Given the description of an element on the screen output the (x, y) to click on. 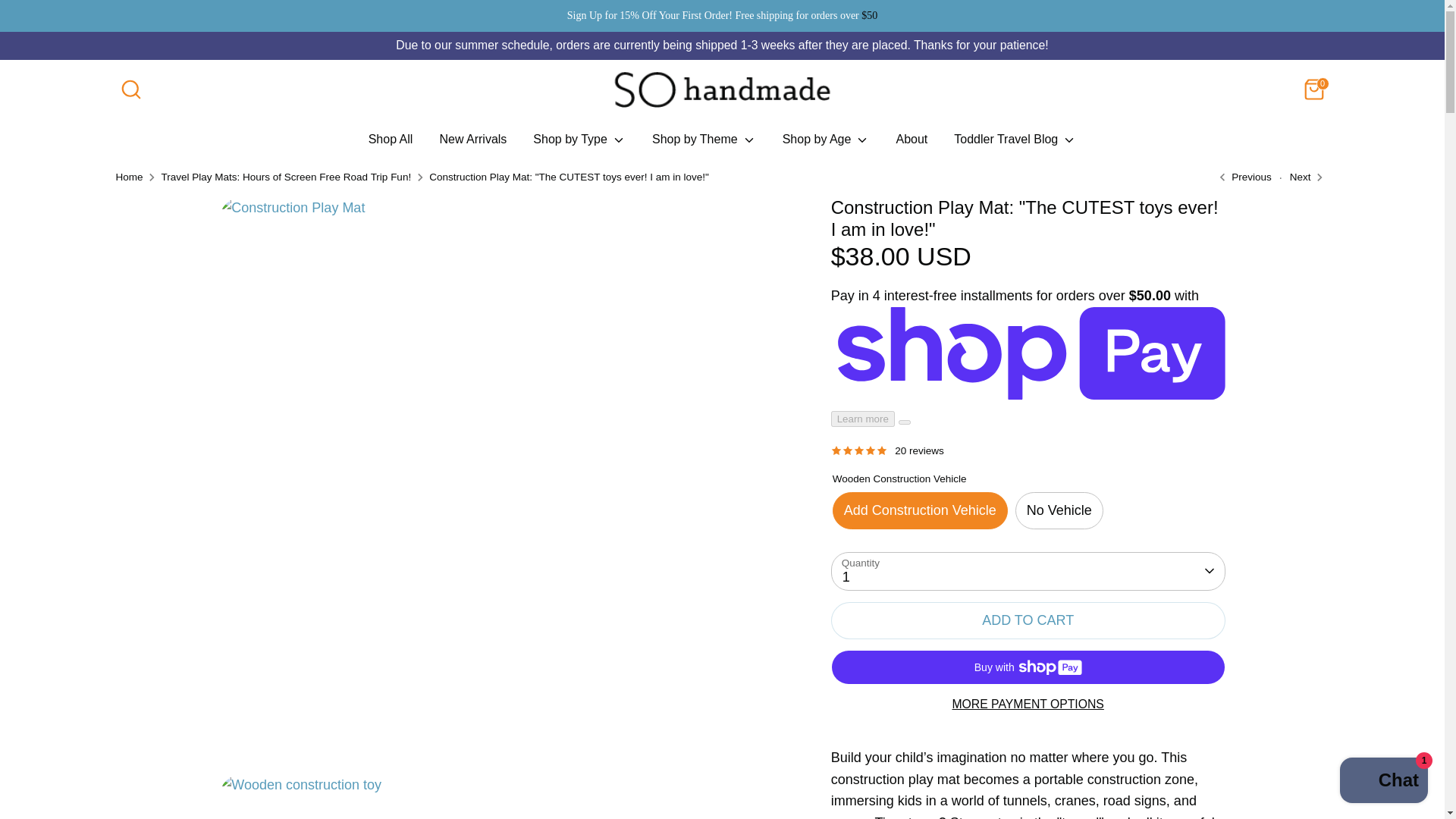
Shopify online store chat (1383, 781)
Toy Car Storage: "My son loves it! Great for traveling!" (1241, 176)
Search (130, 89)
ABC Play Mat: "Great activity for learning and play" (1300, 176)
0 (1312, 89)
